Given the description of an element on the screen output the (x, y) to click on. 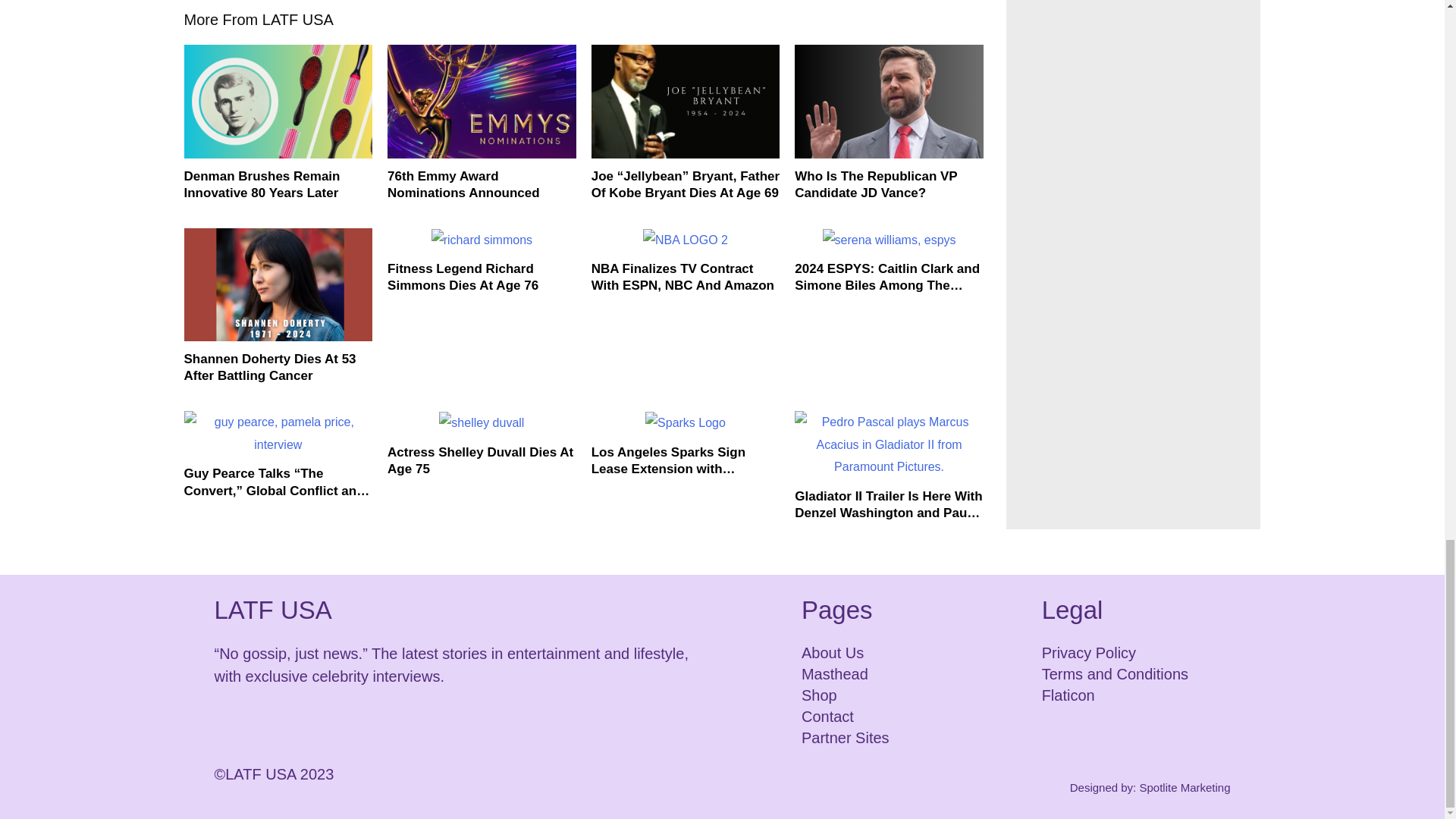
richard simmons (481, 240)
denman brushes, hair brushes (277, 101)
serena williams, espys (889, 240)
NBA LOGO 2 (685, 240)
Sparks Logo (685, 422)
shelley duvall (481, 422)
pamela price interviews guy pearce about the convert (277, 433)
shannen doherty (277, 284)
Joe Jellybean Bryant (685, 101)
jd vance (889, 101)
Gladiator II (889, 444)
